Given the description of an element on the screen output the (x, y) to click on. 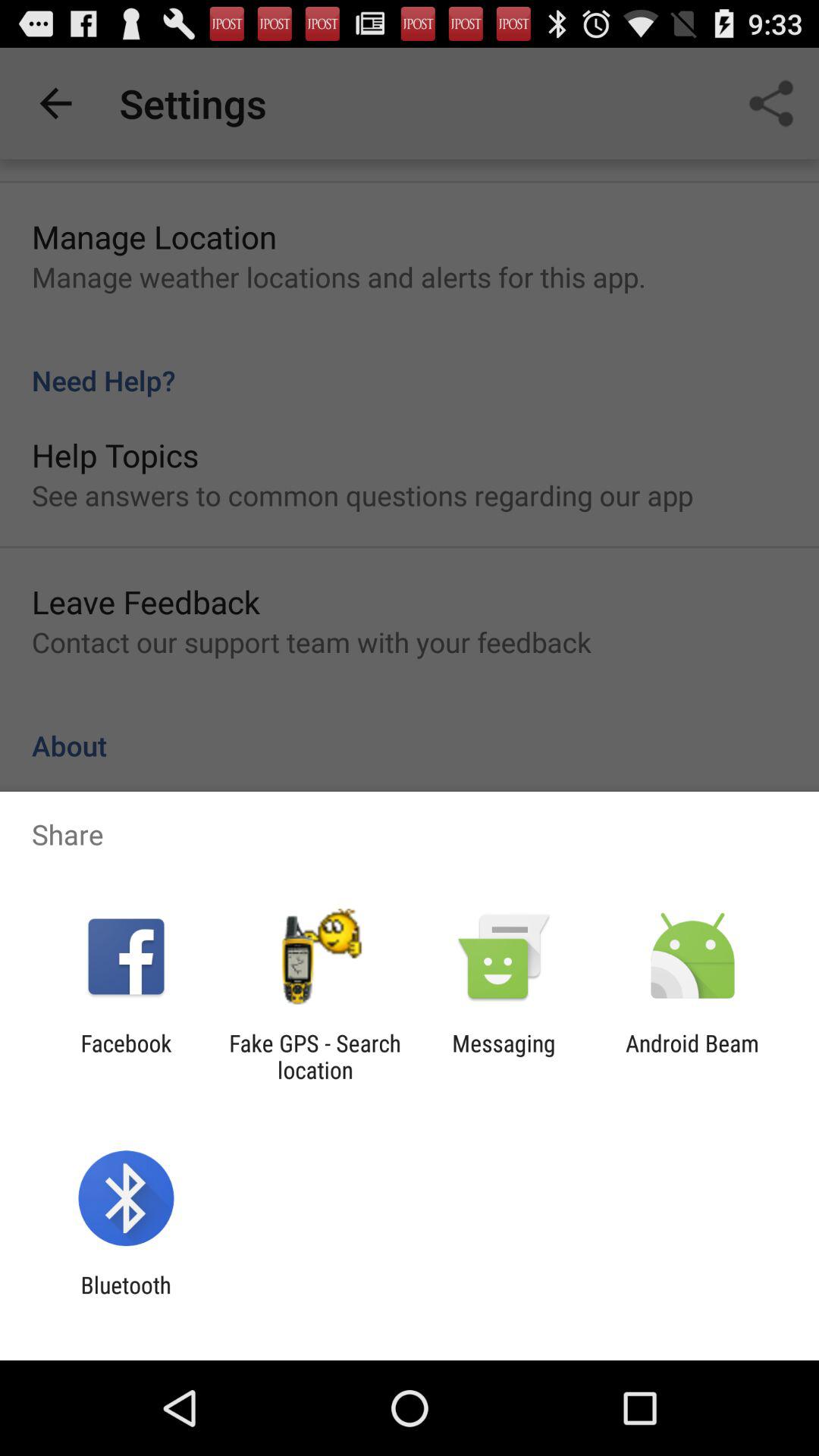
swipe until facebook icon (125, 1056)
